Given the description of an element on the screen output the (x, y) to click on. 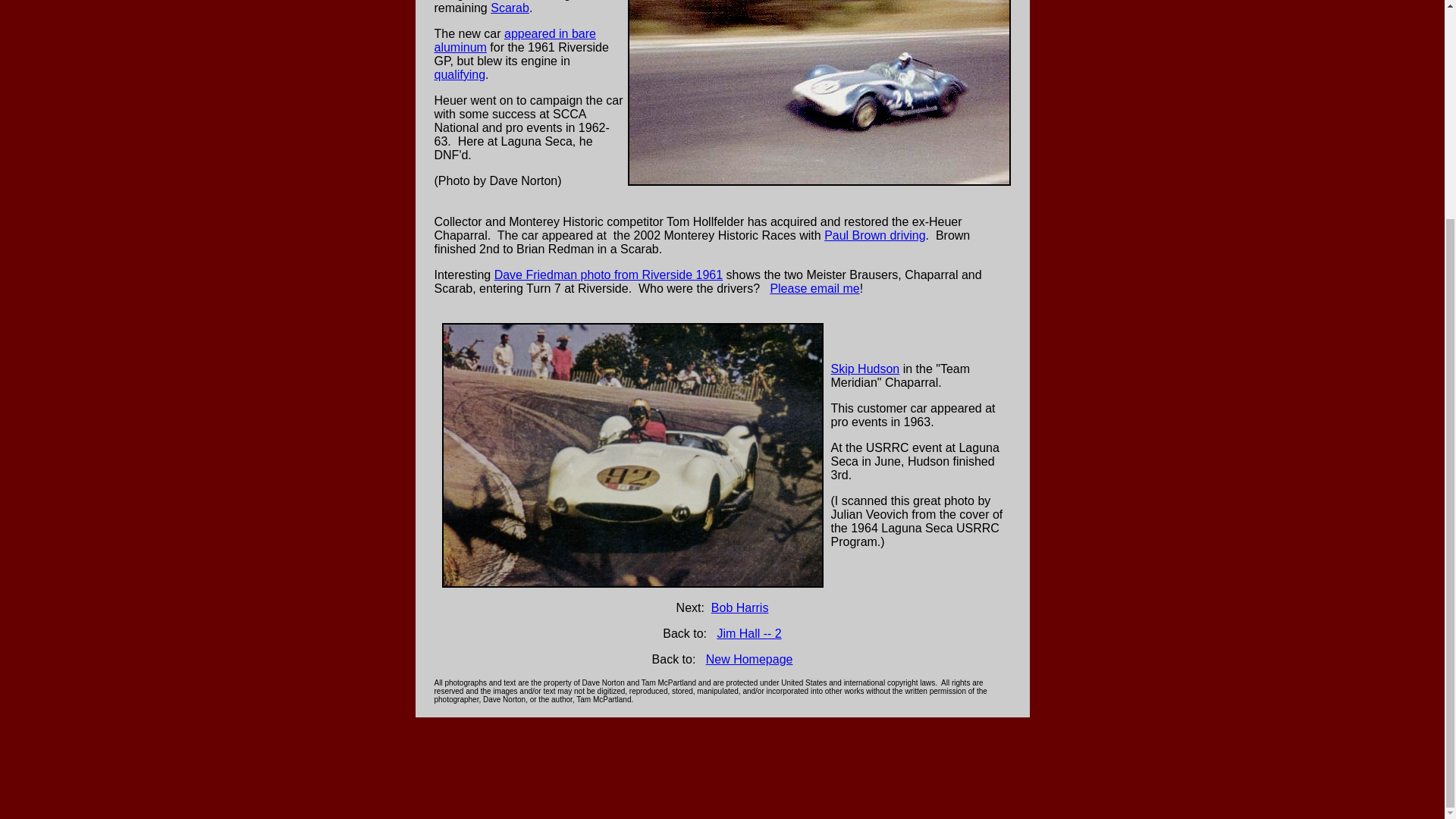
Scarab (509, 7)
qualifying (458, 74)
Paul Brown driving (874, 235)
Jim Hall -- 2 (748, 633)
Bob Harris (739, 607)
New Homepage (749, 658)
Dave Friedman photo from Riverside 1961 (608, 274)
Skip Hudson (865, 367)
Please email me (814, 287)
appeared in bare aluminum (514, 40)
